Given the description of an element on the screen output the (x, y) to click on. 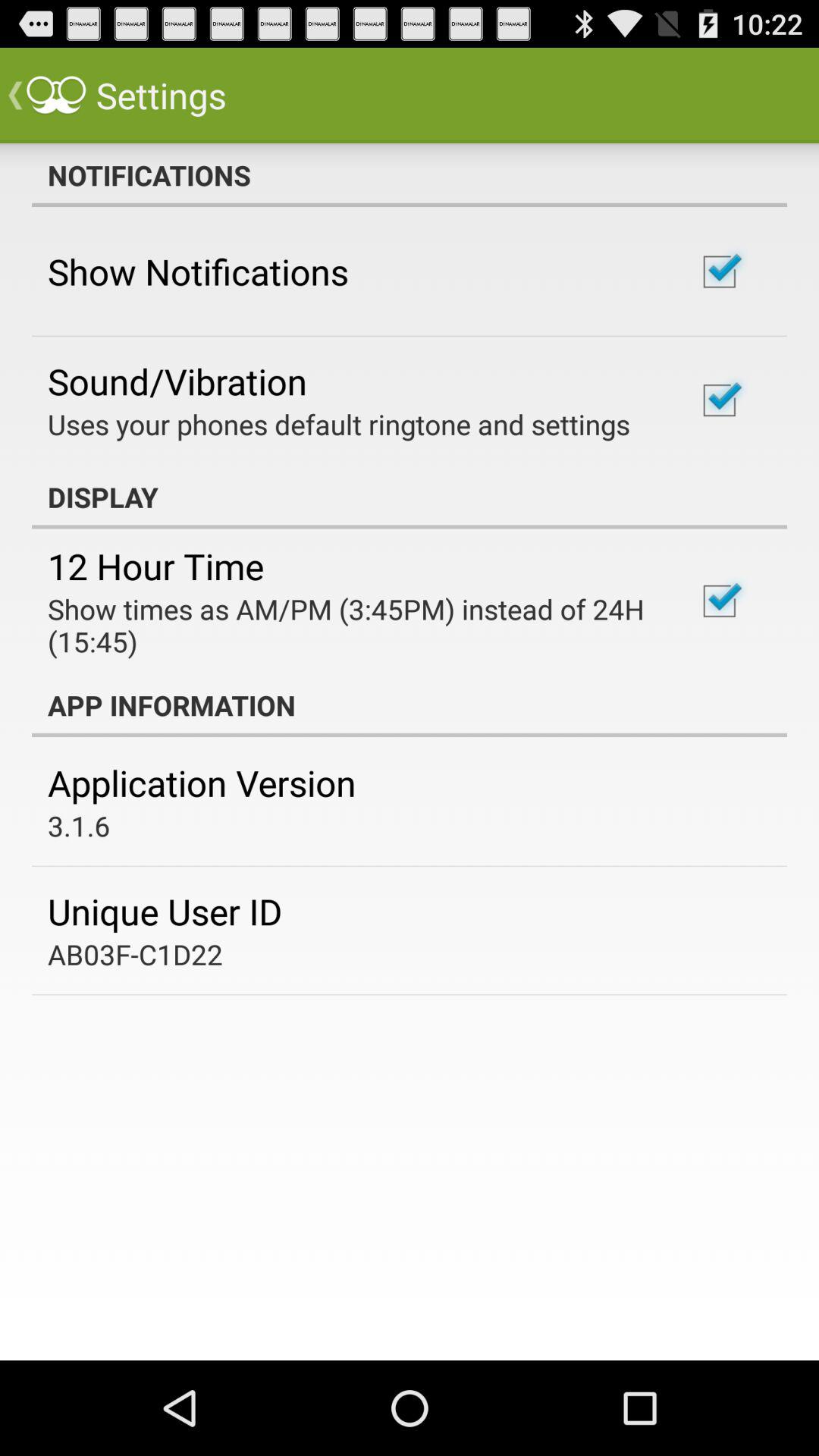
turn off app above the show times as item (155, 566)
